Given the description of an element on the screen output the (x, y) to click on. 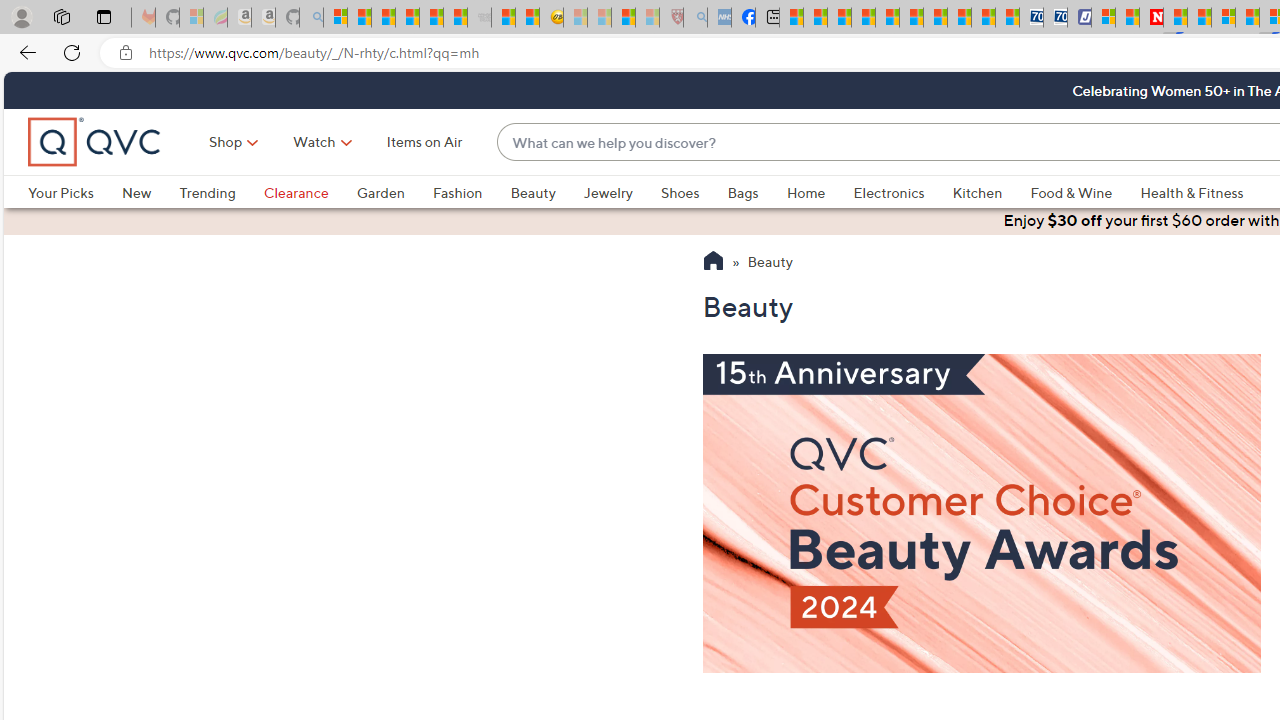
Watch (314, 141)
Stocks - MSN (455, 17)
New Report Confirms 2023 Was Record Hot | Watch (430, 17)
Items on Air (424, 141)
Microsoft account | Privacy (1102, 17)
Combat Siege - Sleeping (479, 17)
Cheap Car Rentals - Save70.com (1031, 17)
